Given the description of an element on the screen output the (x, y) to click on. 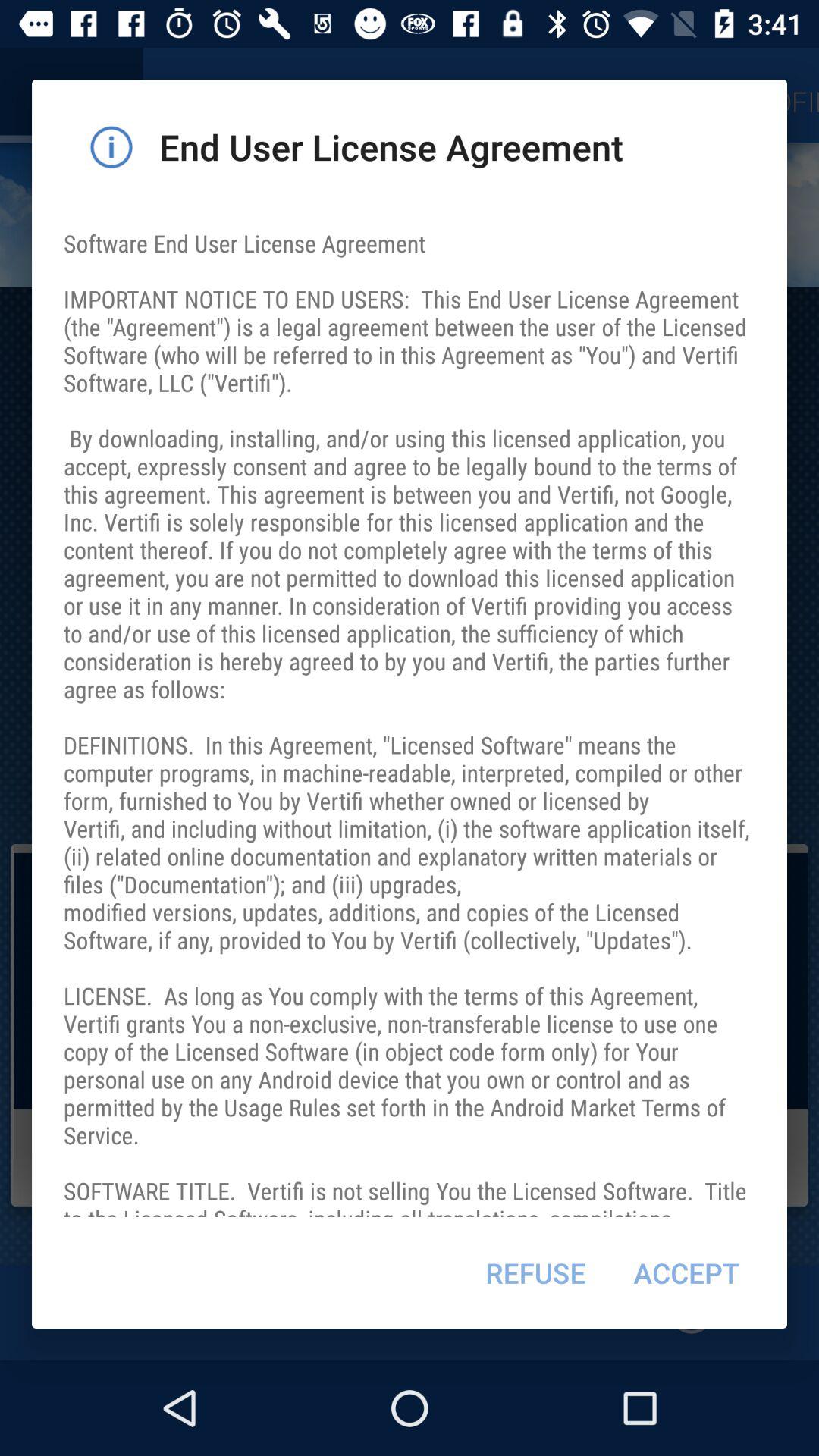
open icon below software end user (686, 1272)
